Given the description of an element on the screen output the (x, y) to click on. 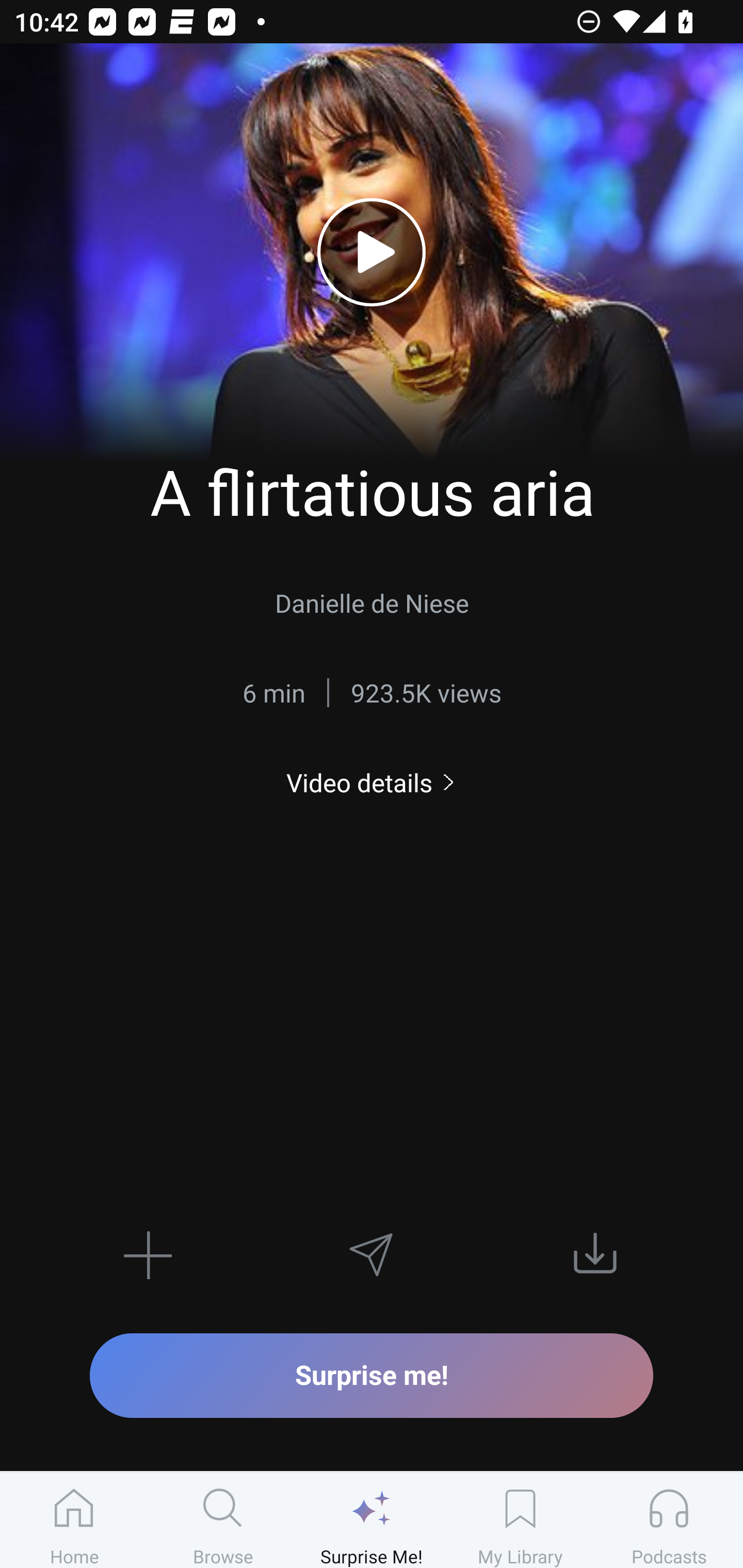
Video details (371, 783)
Surprise me! (371, 1374)
Home (74, 1520)
Browse (222, 1520)
Surprise Me! (371, 1520)
My Library (519, 1520)
Podcasts (668, 1520)
